Given the description of an element on the screen output the (x, y) to click on. 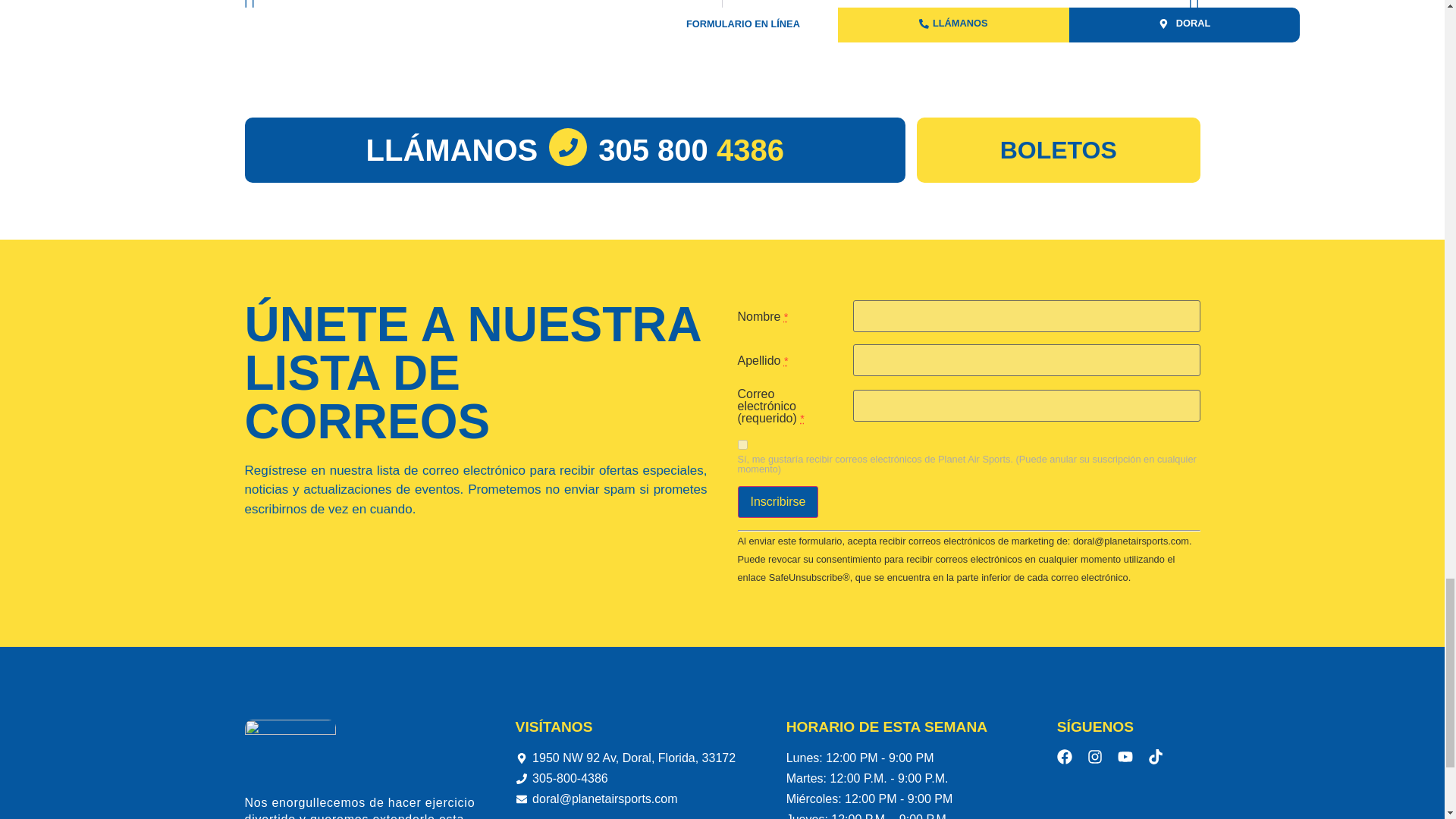
Inscribirse (777, 501)
1 (741, 444)
